Given the description of an element on the screen output the (x, y) to click on. 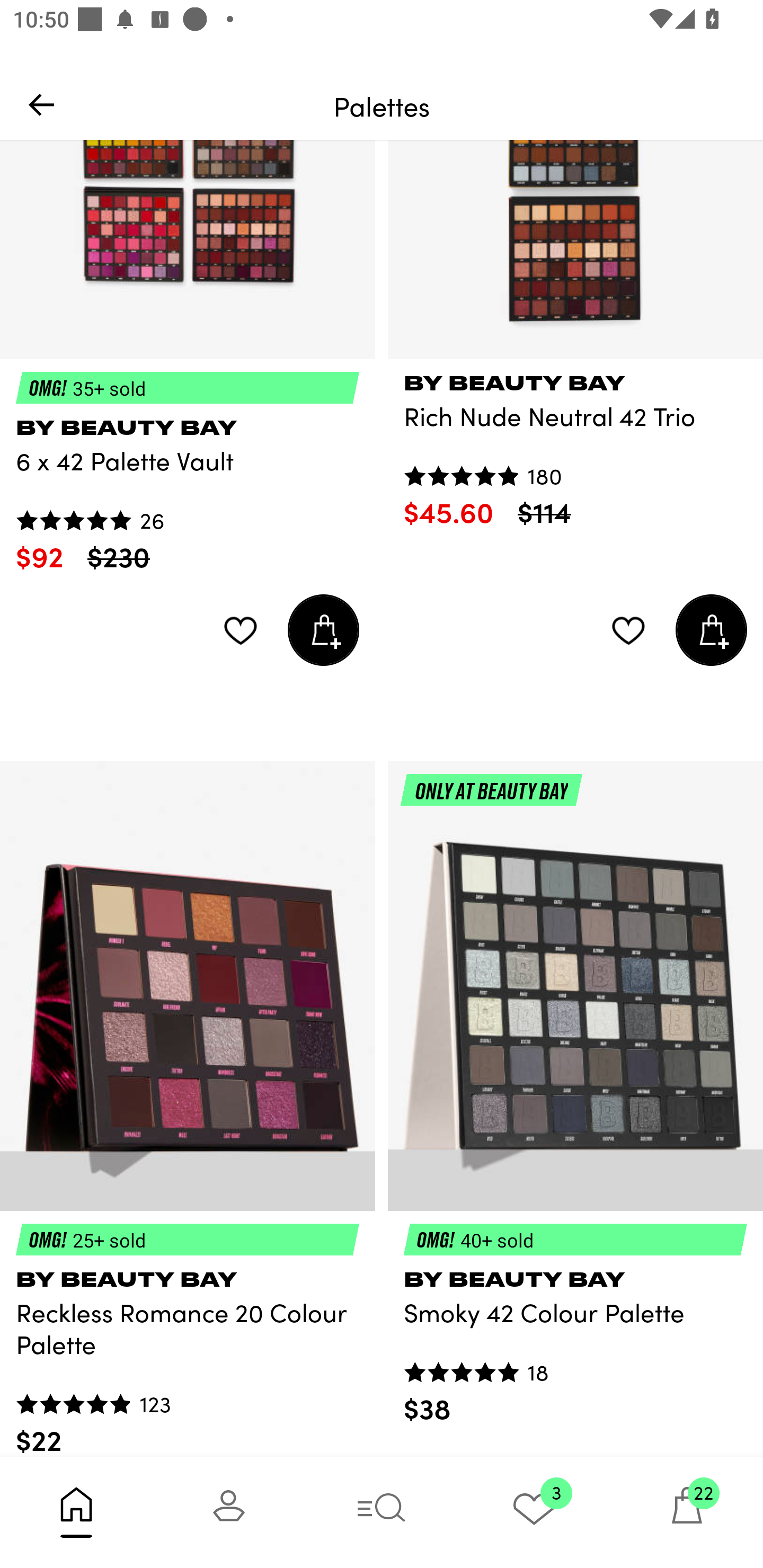
3 (533, 1512)
22 (686, 1512)
